Given the description of an element on the screen output the (x, y) to click on. 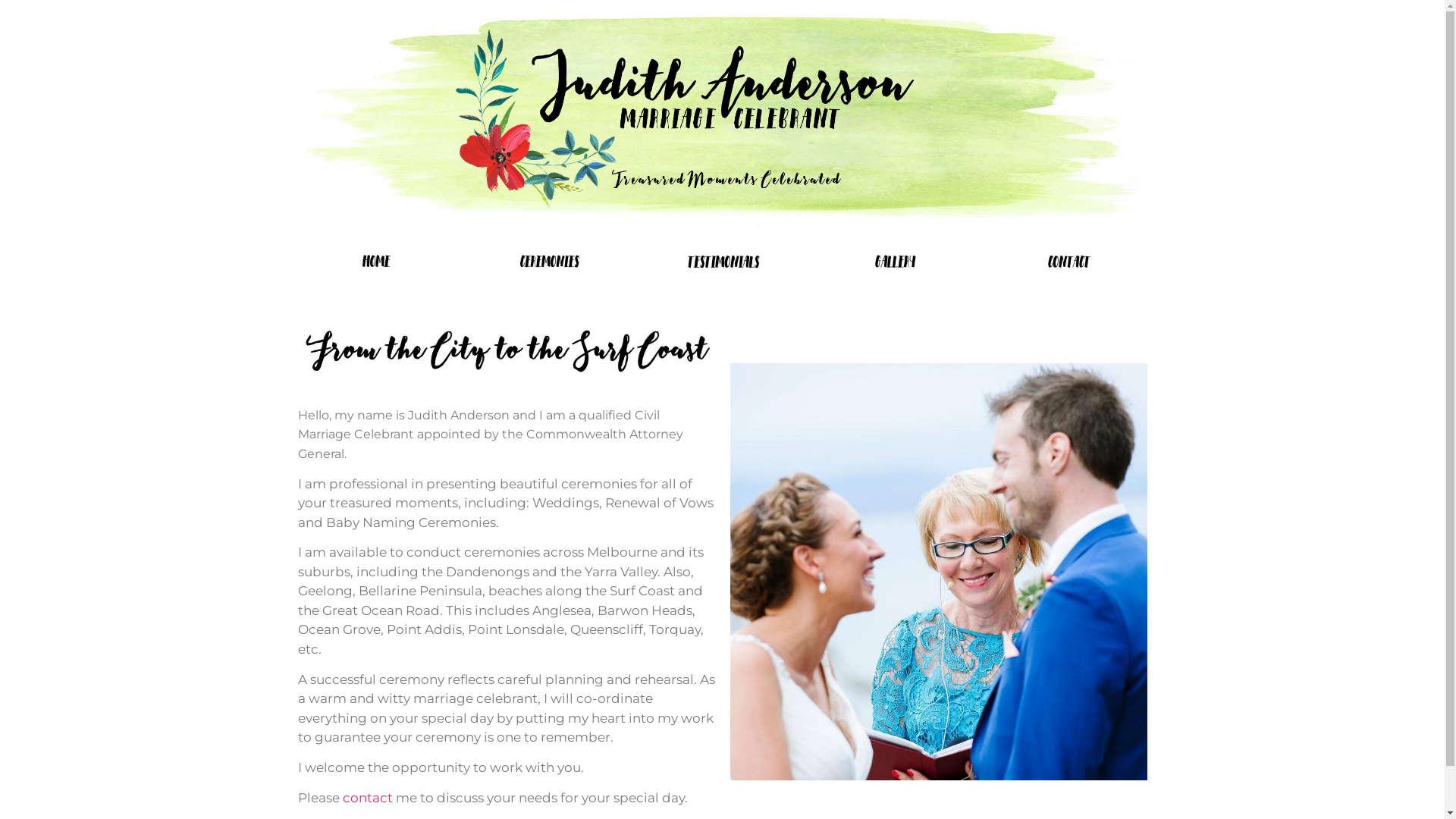
testimonials Element type: hover (721, 260)
home Element type: hover (376, 260)
ceremonies Element type: hover (548, 260)
Gallery Element type: hover (894, 260)
contact Element type: text (367, 797)
contact Element type: hover (1067, 260)
